Given the description of an element on the screen output the (x, y) to click on. 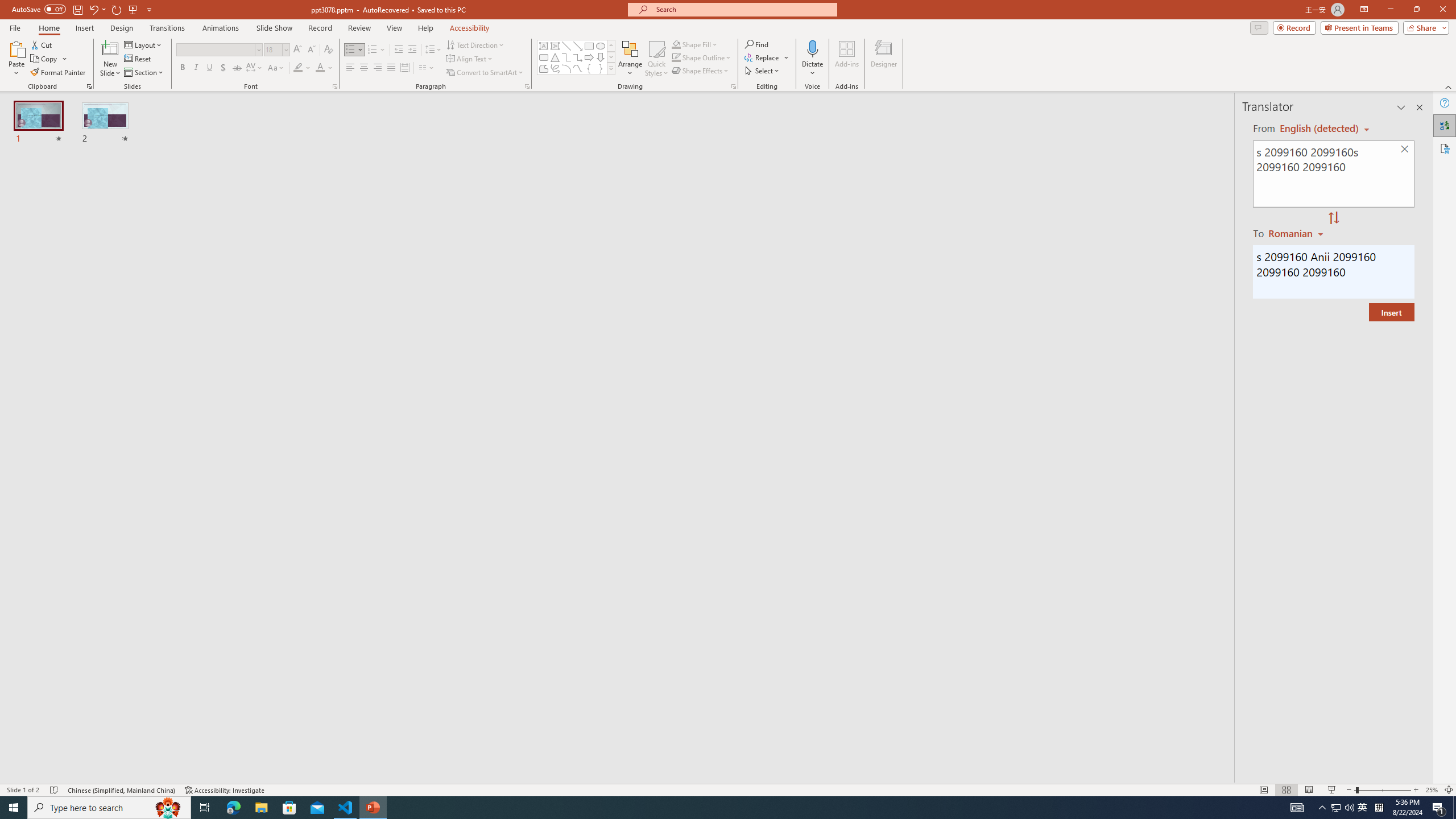
Swap "from" and "to" languages. (1333, 218)
